Given the description of an element on the screen output the (x, y) to click on. 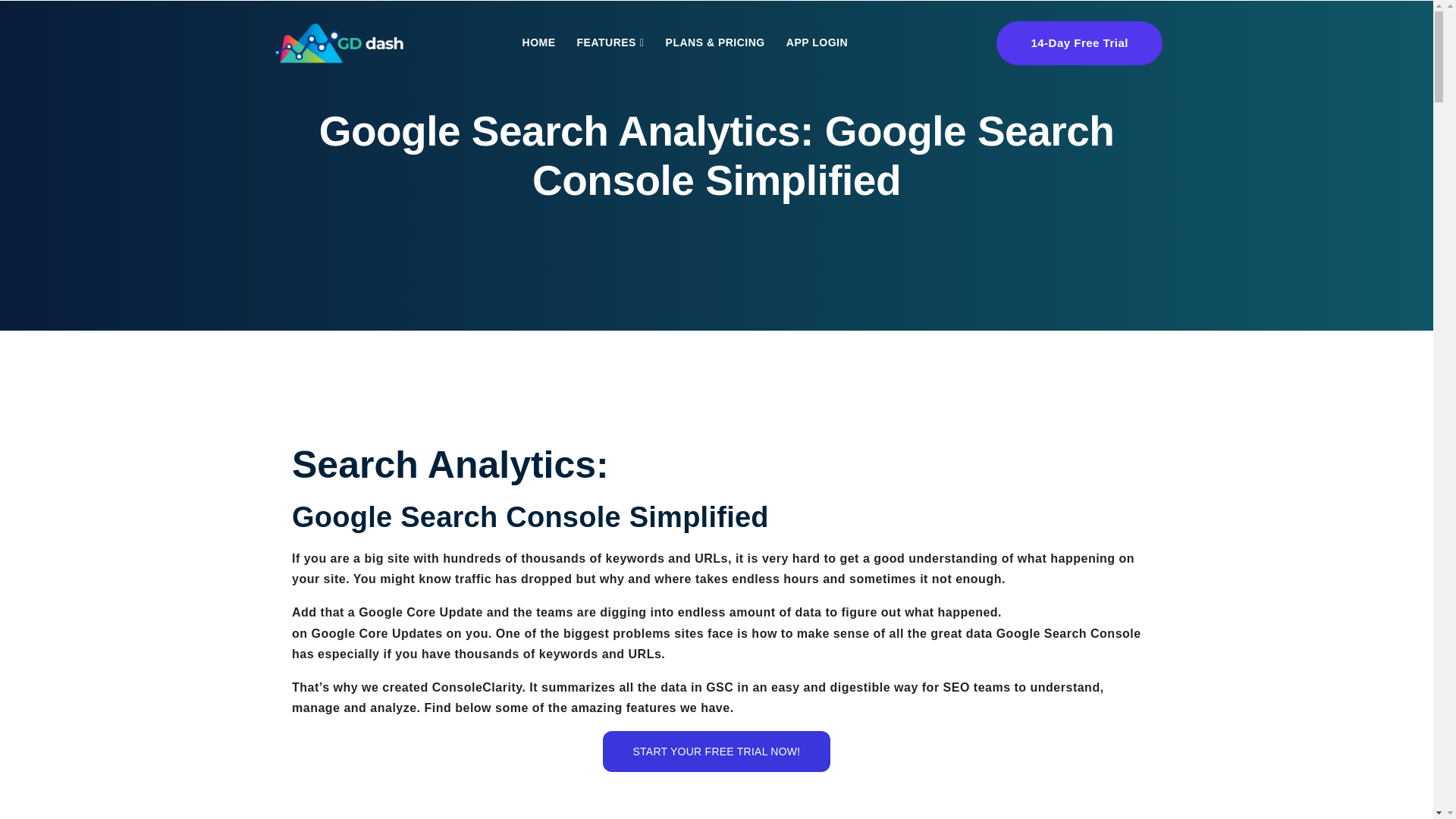
14-Day Free Trial (1078, 43)
Features (610, 42)
App Login (817, 41)
START YOUR FREE TRIAL NOW! (716, 751)
APP LOGIN (817, 41)
FEATURES (610, 42)
